Given the description of an element on the screen output the (x, y) to click on. 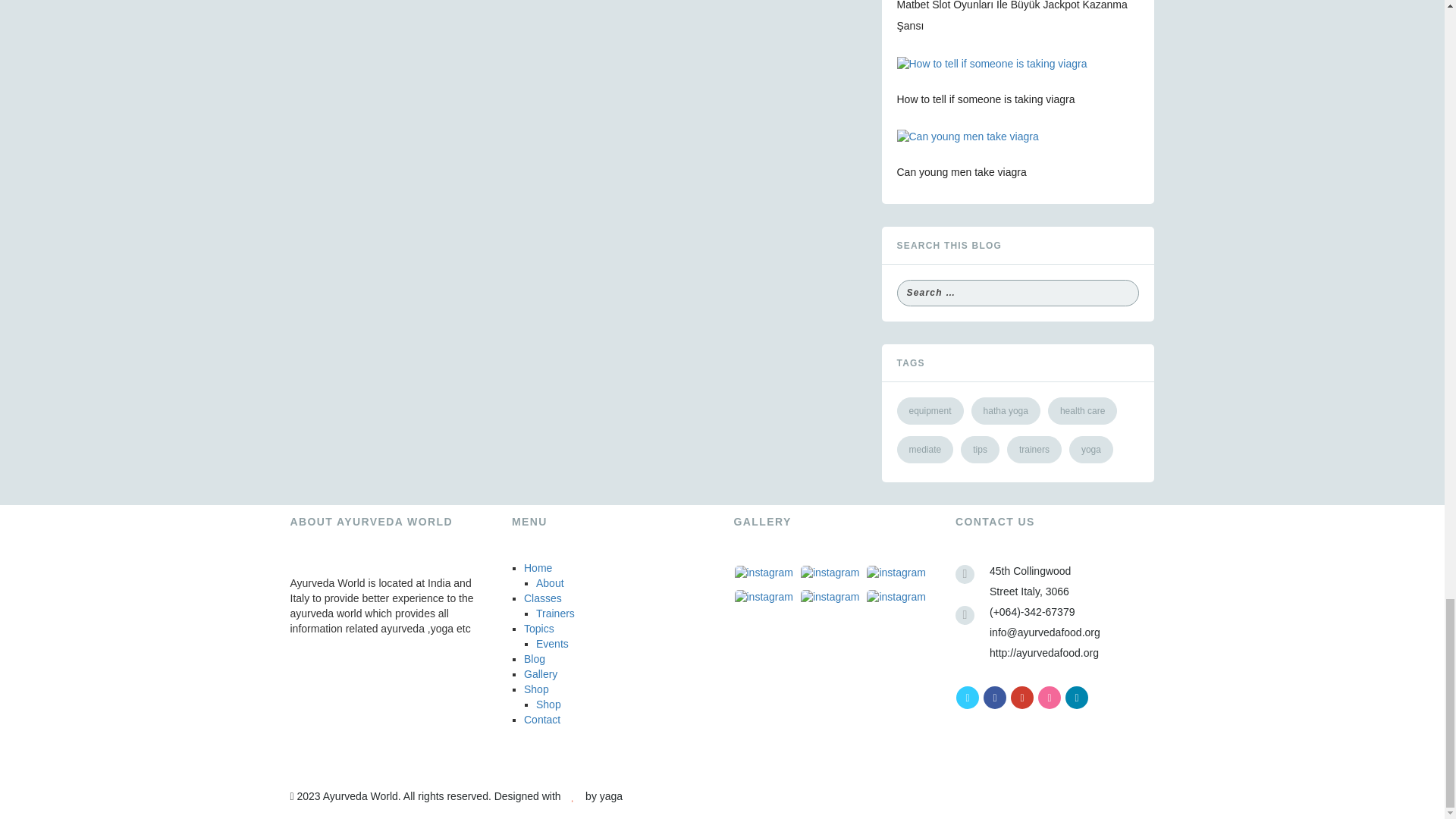
Search (1127, 292)
Search (1127, 292)
